Given the description of an element on the screen output the (x, y) to click on. 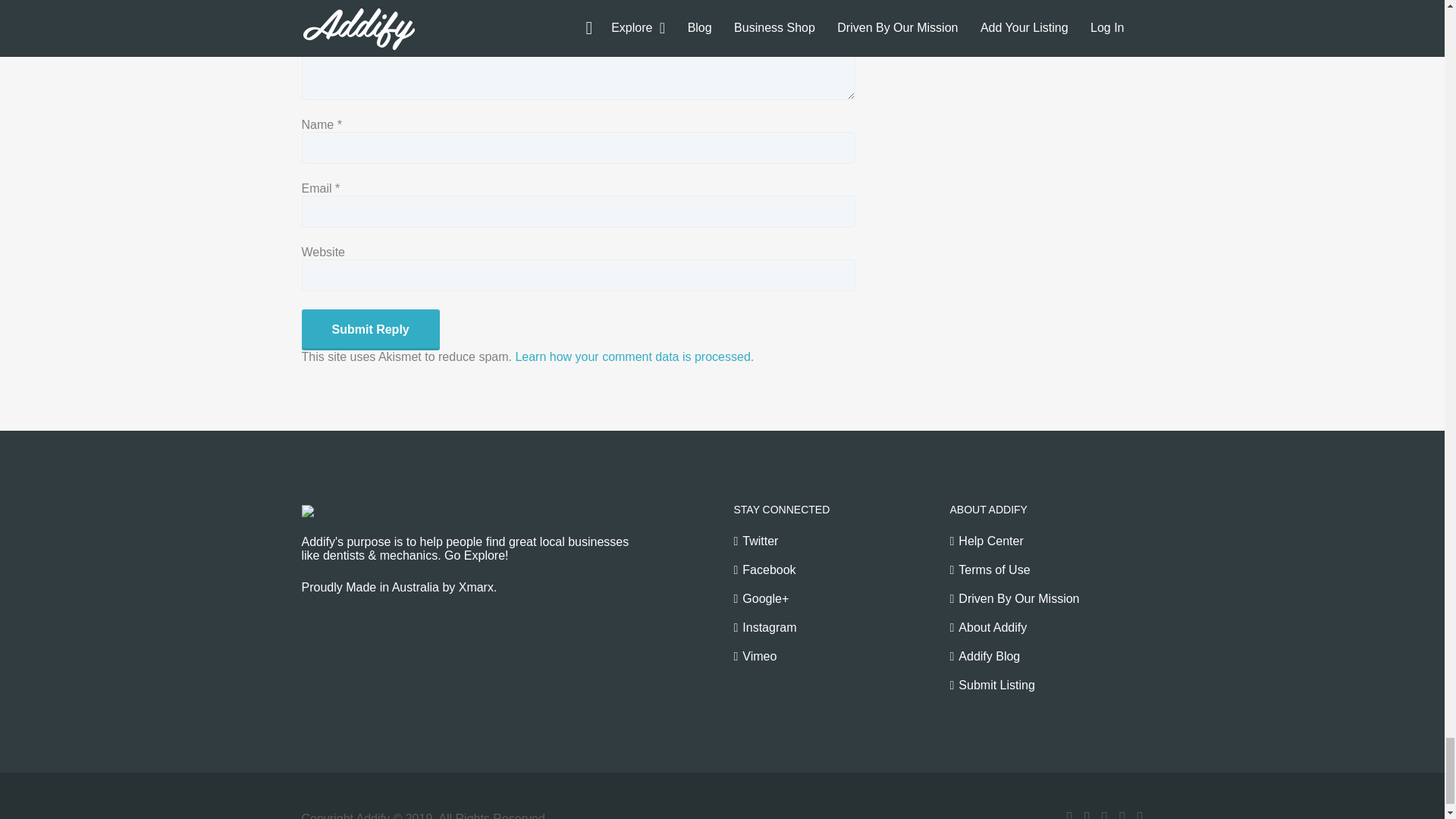
Submit Reply (370, 329)
